Given the description of an element on the screen output the (x, y) to click on. 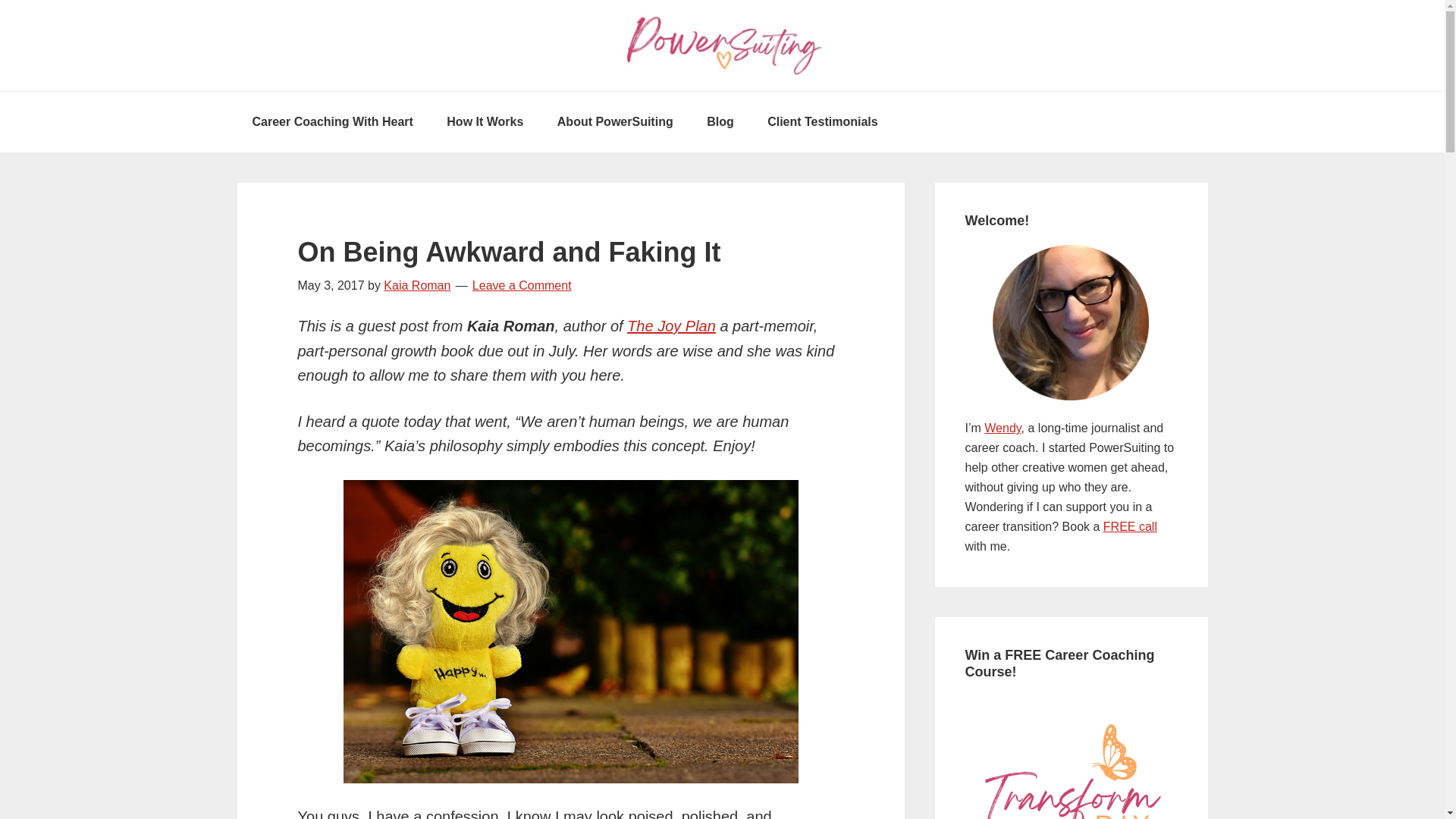
The Joy Plan (671, 325)
PowerSuiting (721, 45)
About PowerSuiting (614, 121)
Client Testimonials (822, 121)
Blog (720, 121)
Kaia Roman (416, 285)
How It Works (484, 121)
Career Coaching With Heart (331, 121)
Leave a Comment (521, 285)
